Given the description of an element on the screen output the (x, y) to click on. 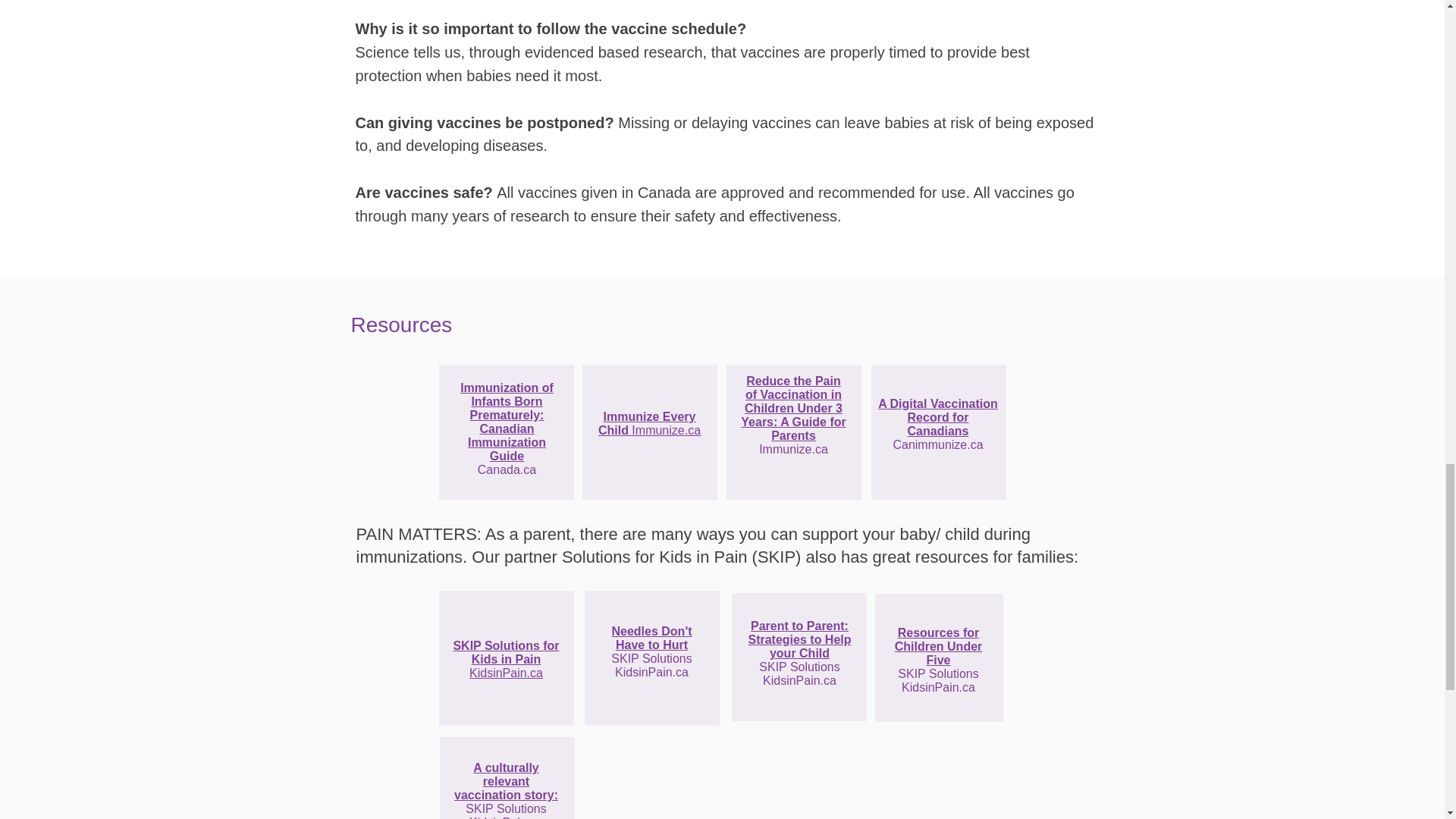
Canada.ca (506, 469)
SKIP Solutions for Kids in Pain KidsinPain.ca (505, 659)
Immunize Every Child Immunize.ca (649, 423)
A Digital Vaccination Record for Canadians Canimmunize.ca (937, 424)
